Given the description of an element on the screen output the (x, y) to click on. 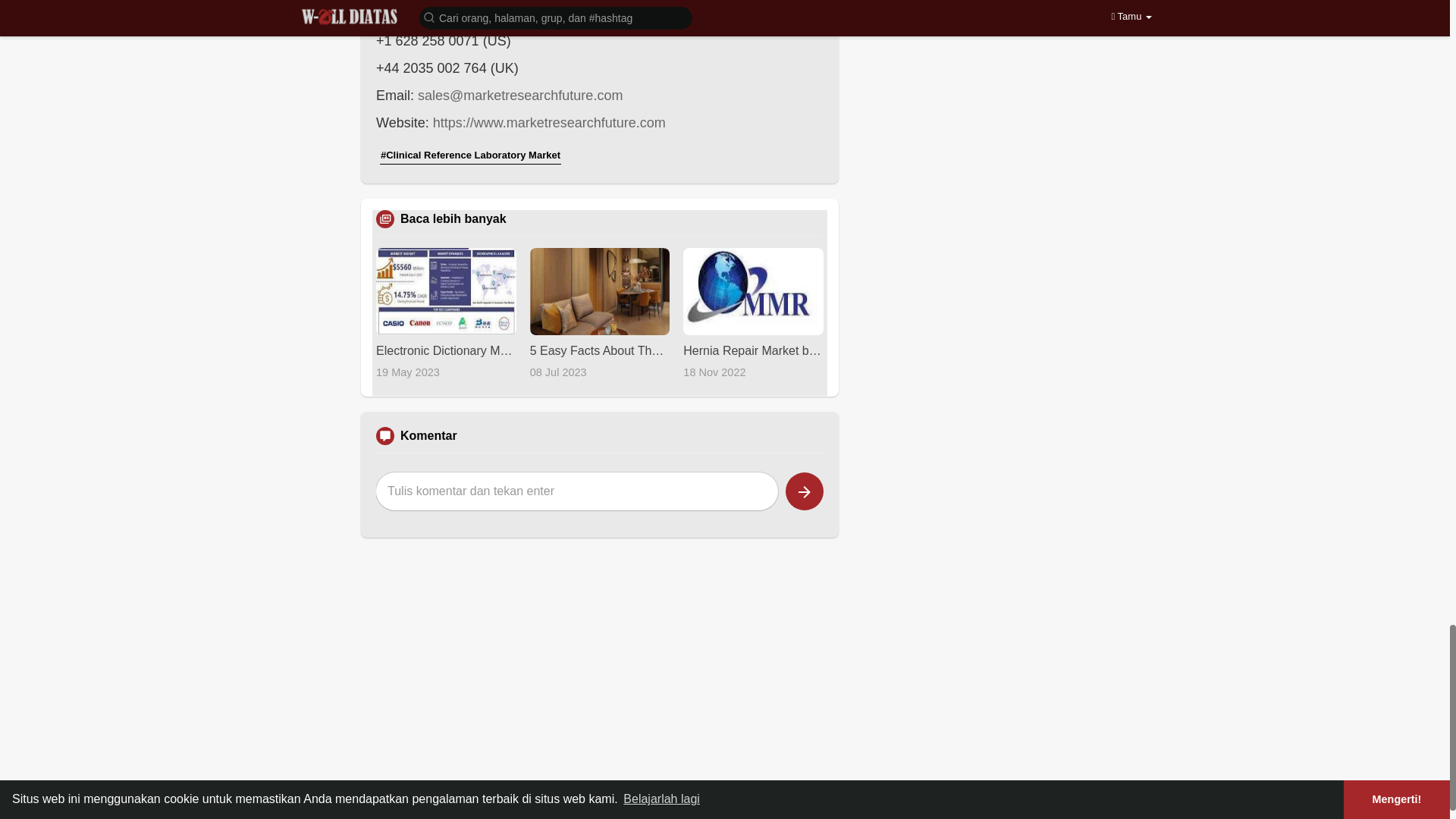
5 Easy Facts About The Continuum Showflat Described (599, 350)
